Given the description of an element on the screen output the (x, y) to click on. 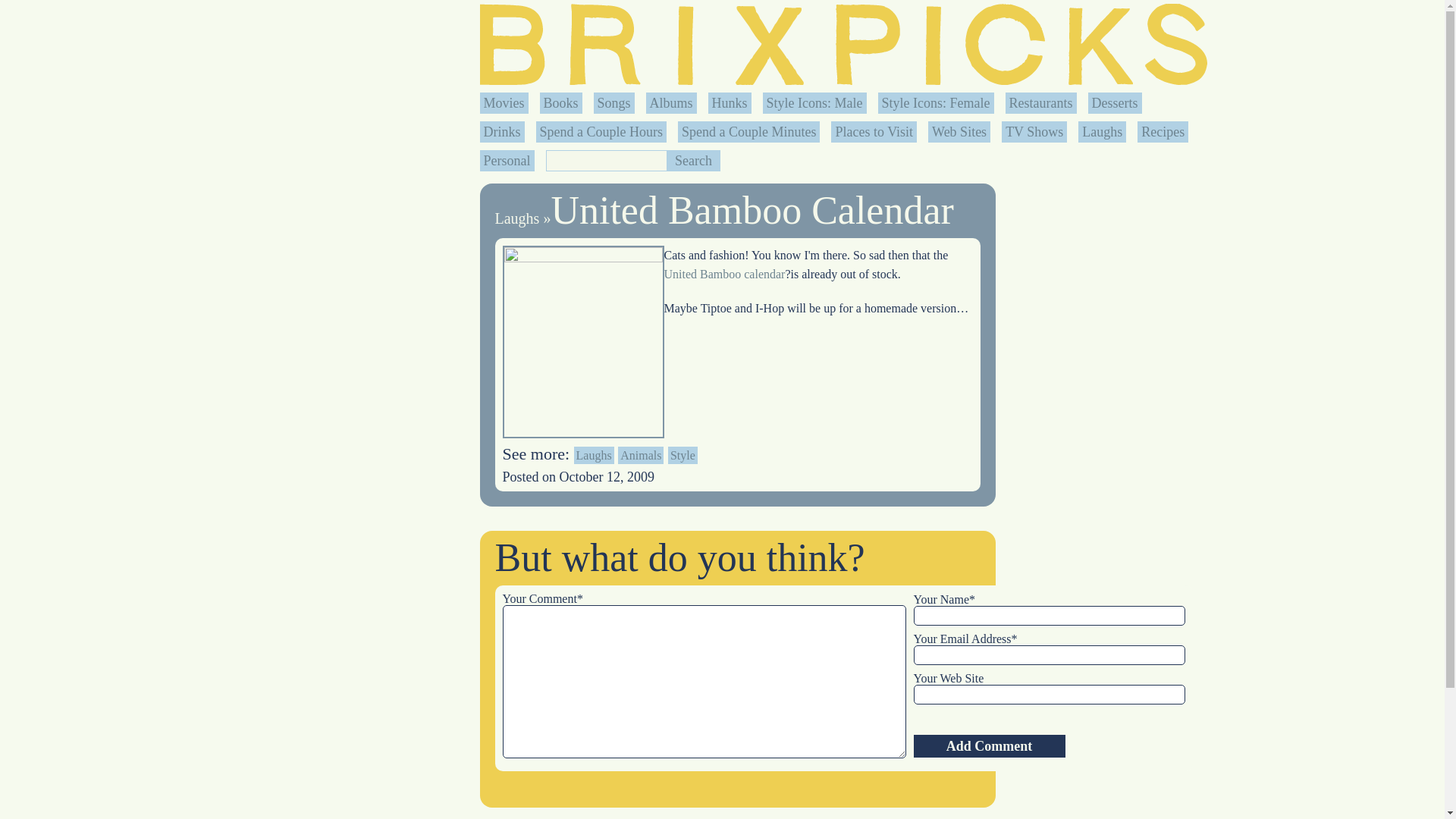
Add Comment (988, 745)
United Bamboo calendar (724, 273)
Laughs (516, 217)
Brix Picks - Home (843, 44)
united bamboo cat calendar (724, 273)
Style Icons: Female (936, 102)
Style Icons: Male (815, 102)
Movies (503, 102)
Desserts (1115, 102)
TV Shows (1034, 131)
Laughs (1101, 131)
Search (693, 160)
Laughs (593, 455)
Hunks (729, 102)
Add Comment (988, 745)
